Given the description of an element on the screen output the (x, y) to click on. 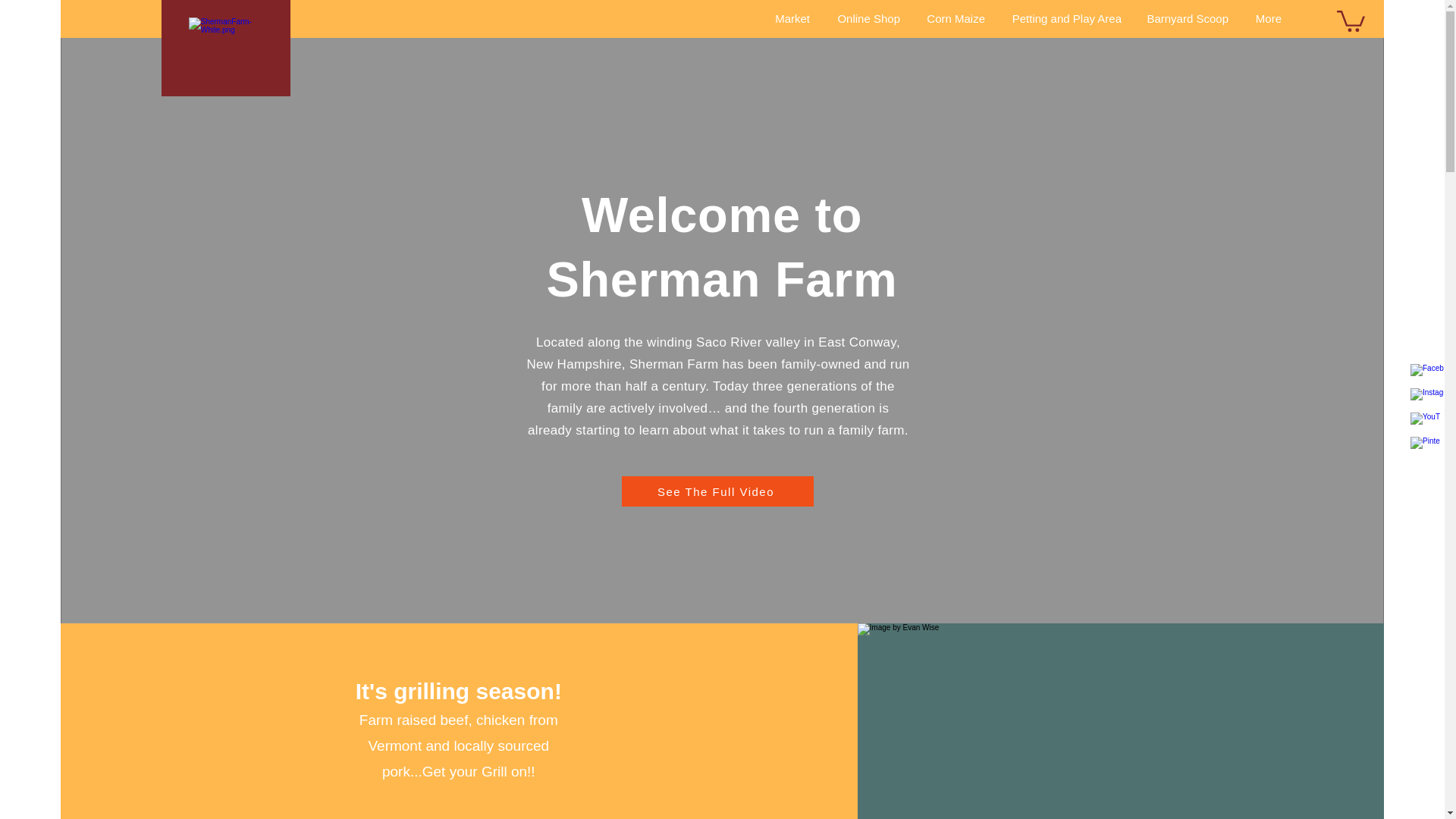
Corn Maize (953, 18)
Barnyard Scoop (1186, 18)
Petting and Play Area (1063, 18)
See The Full Video (717, 490)
Market (789, 18)
Online Shop (866, 18)
